Given the description of an element on the screen output the (x, y) to click on. 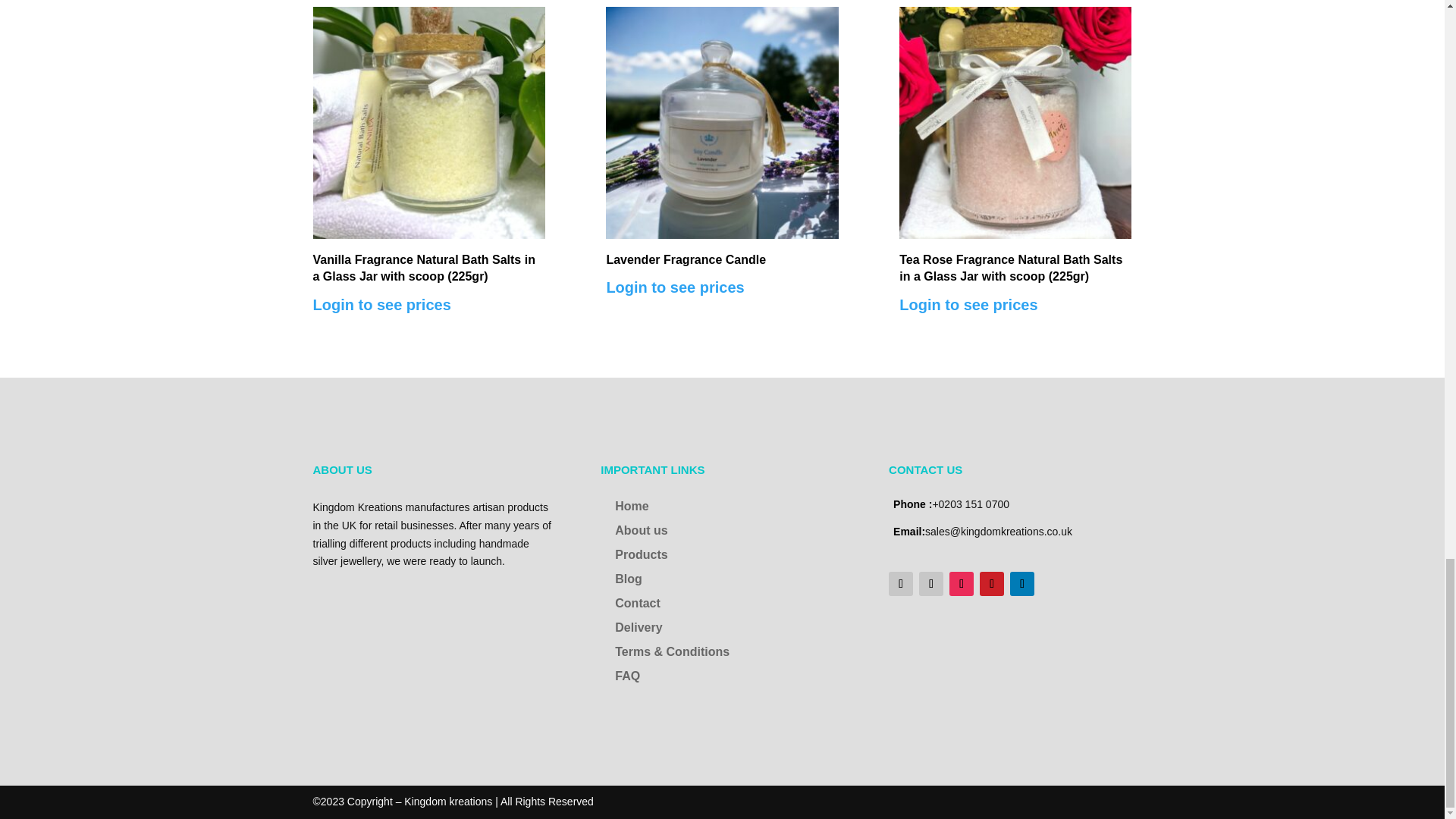
Follow on Twitter (930, 583)
Follow on Instagram (961, 583)
Follow on LinkedIn (1021, 583)
Follow on Facebook (900, 583)
Follow on Pinterest (991, 583)
